Given the description of an element on the screen output the (x, y) to click on. 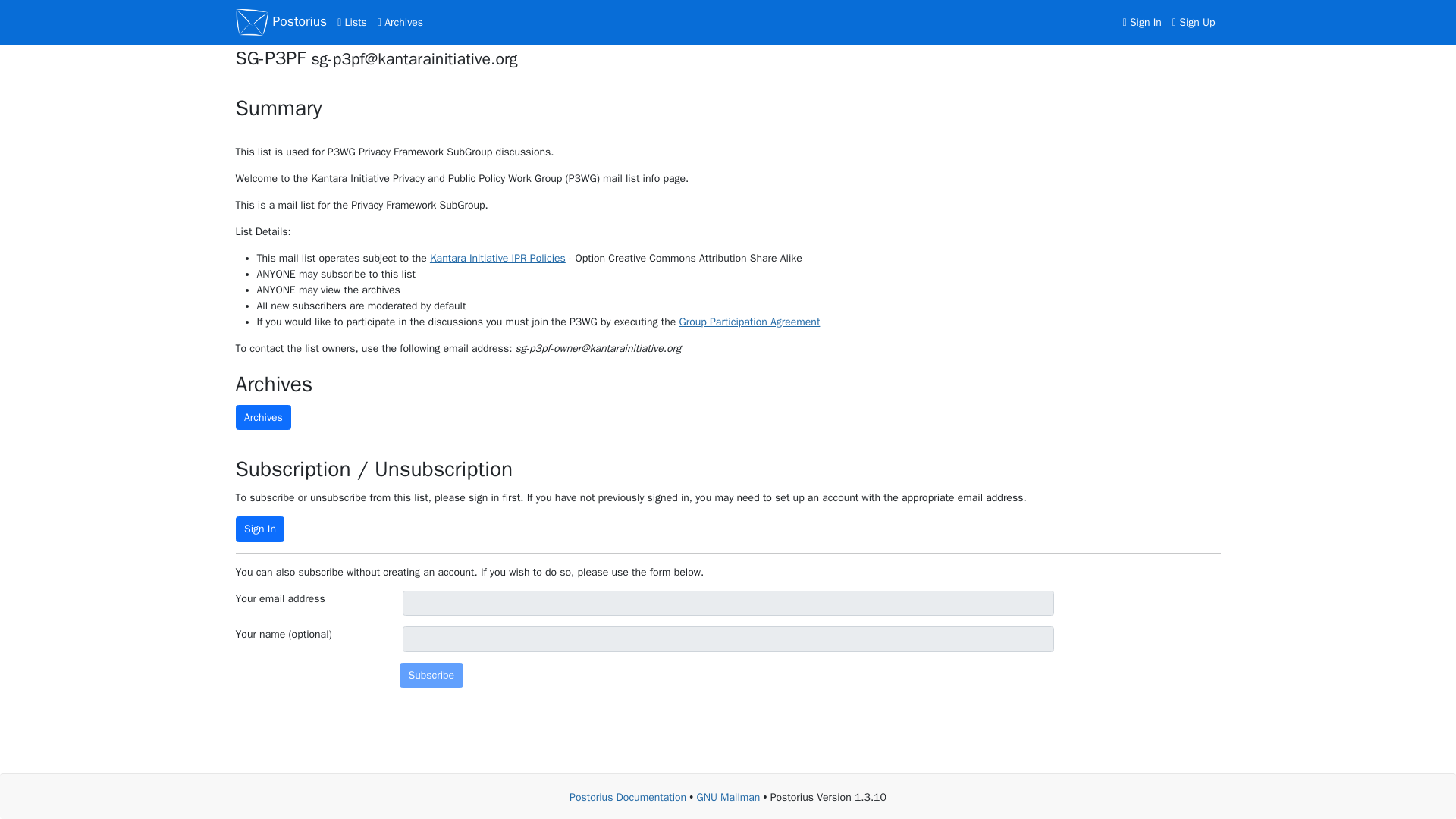
Postorius (280, 22)
Kantara Initiative IPR Policies (497, 257)
Archives (262, 417)
Sign Up (1194, 22)
Lists (351, 22)
Sign In (258, 529)
Group Participation Agreement (748, 321)
Archives (400, 22)
Sign In (1142, 22)
